Given the description of an element on the screen output the (x, y) to click on. 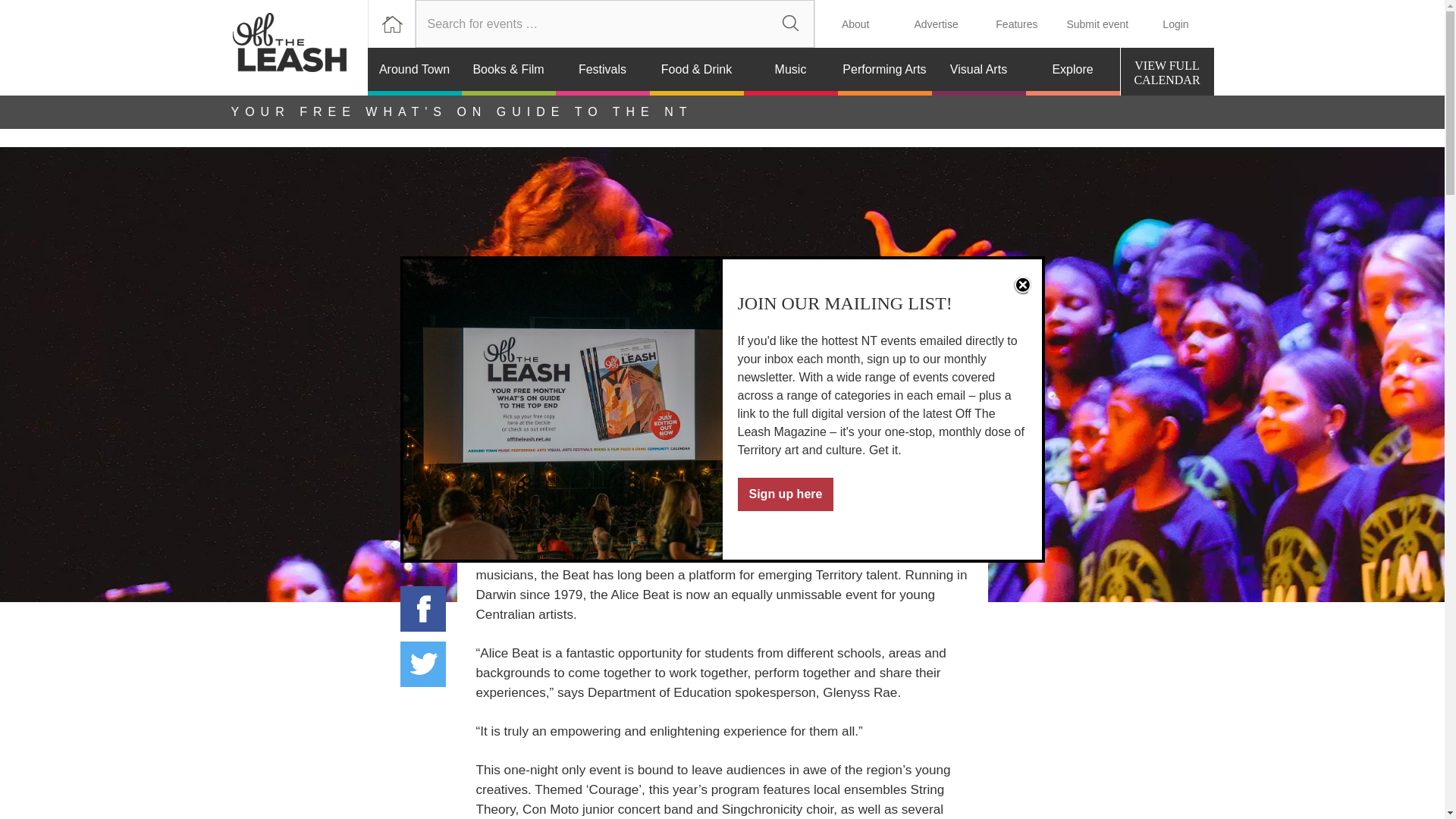
Explore (1072, 71)
Home (390, 23)
Submit event (1097, 23)
Music (1167, 71)
Tweet this on twitter (789, 71)
View all events (422, 664)
Festivals (1167, 71)
Search (601, 71)
Search (790, 23)
Home (790, 23)
Features (298, 47)
Login (1016, 23)
Share on Facebook (1174, 23)
Around Town (422, 608)
